Given the description of an element on the screen output the (x, y) to click on. 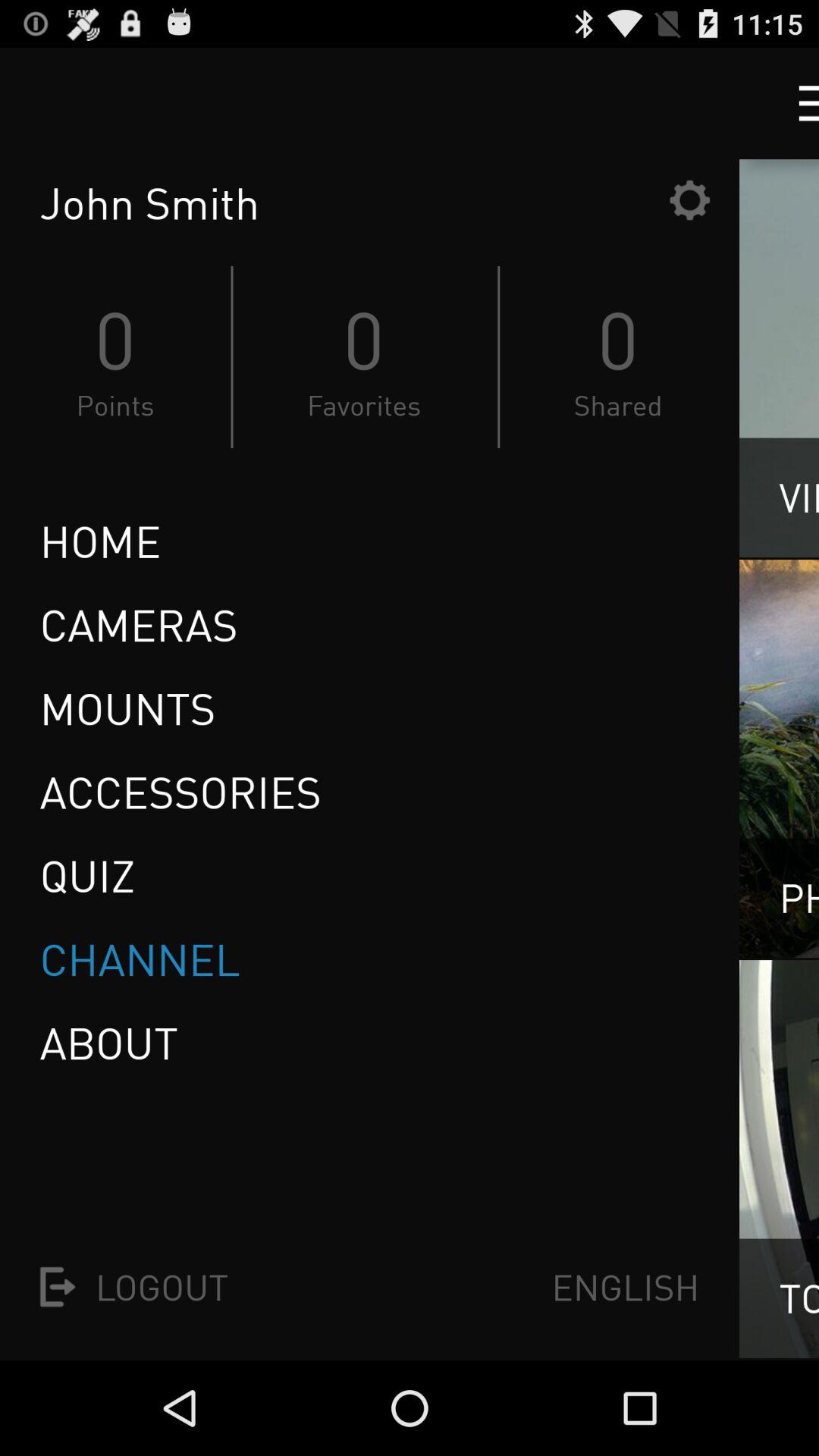
settings button (689, 199)
